Given the description of an element on the screen output the (x, y) to click on. 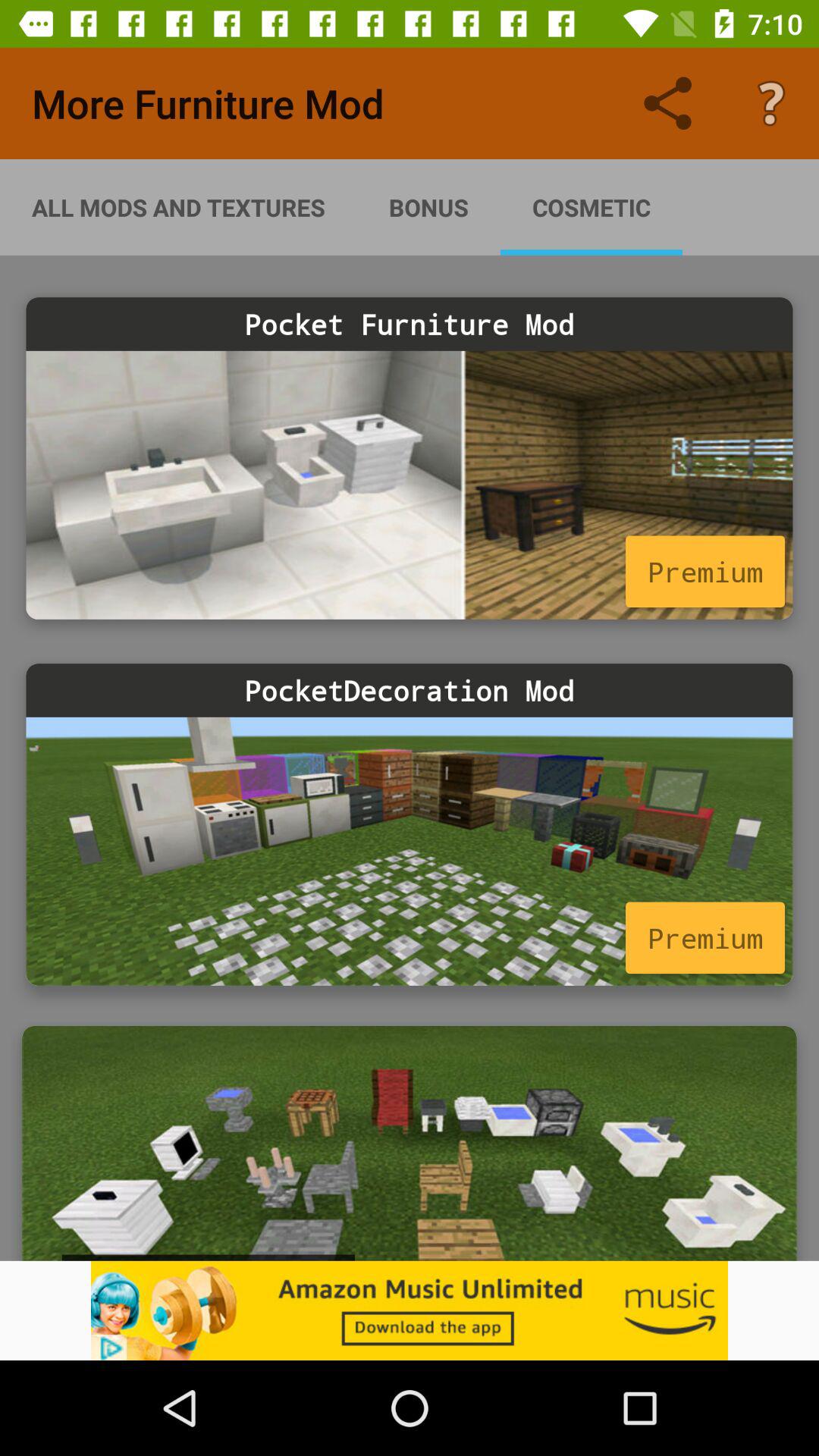
open mod (409, 1143)
